Given the description of an element on the screen output the (x, y) to click on. 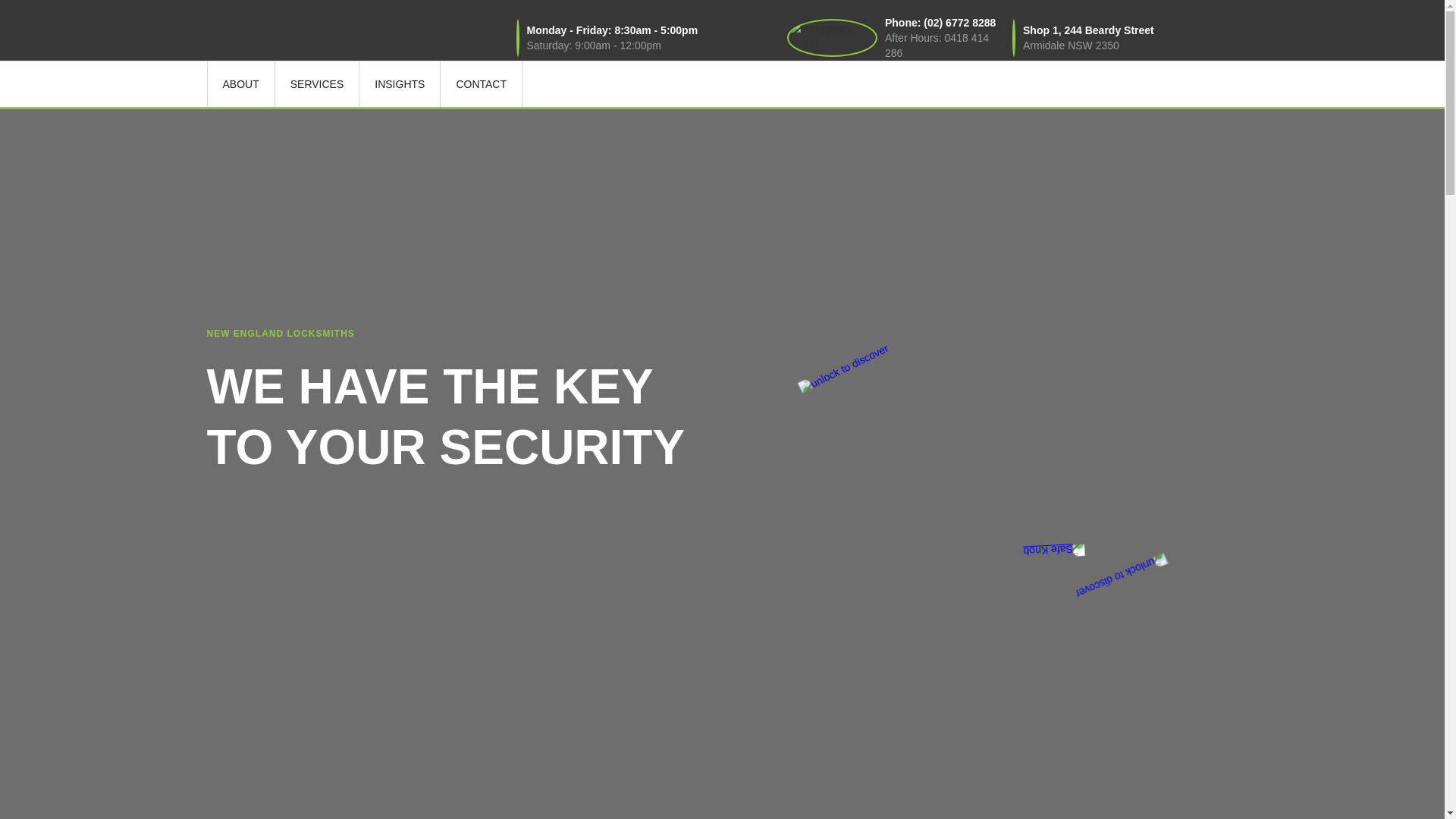
SERVICES Element type: text (316, 83)
CONTACT Element type: text (480, 83)
INSIGHTS Element type: text (398, 83)
ABOUT Element type: text (239, 83)
0418 414 286 Element type: text (936, 45)
(02) 6772 8288 Element type: text (959, 22)
